Given the description of an element on the screen output the (x, y) to click on. 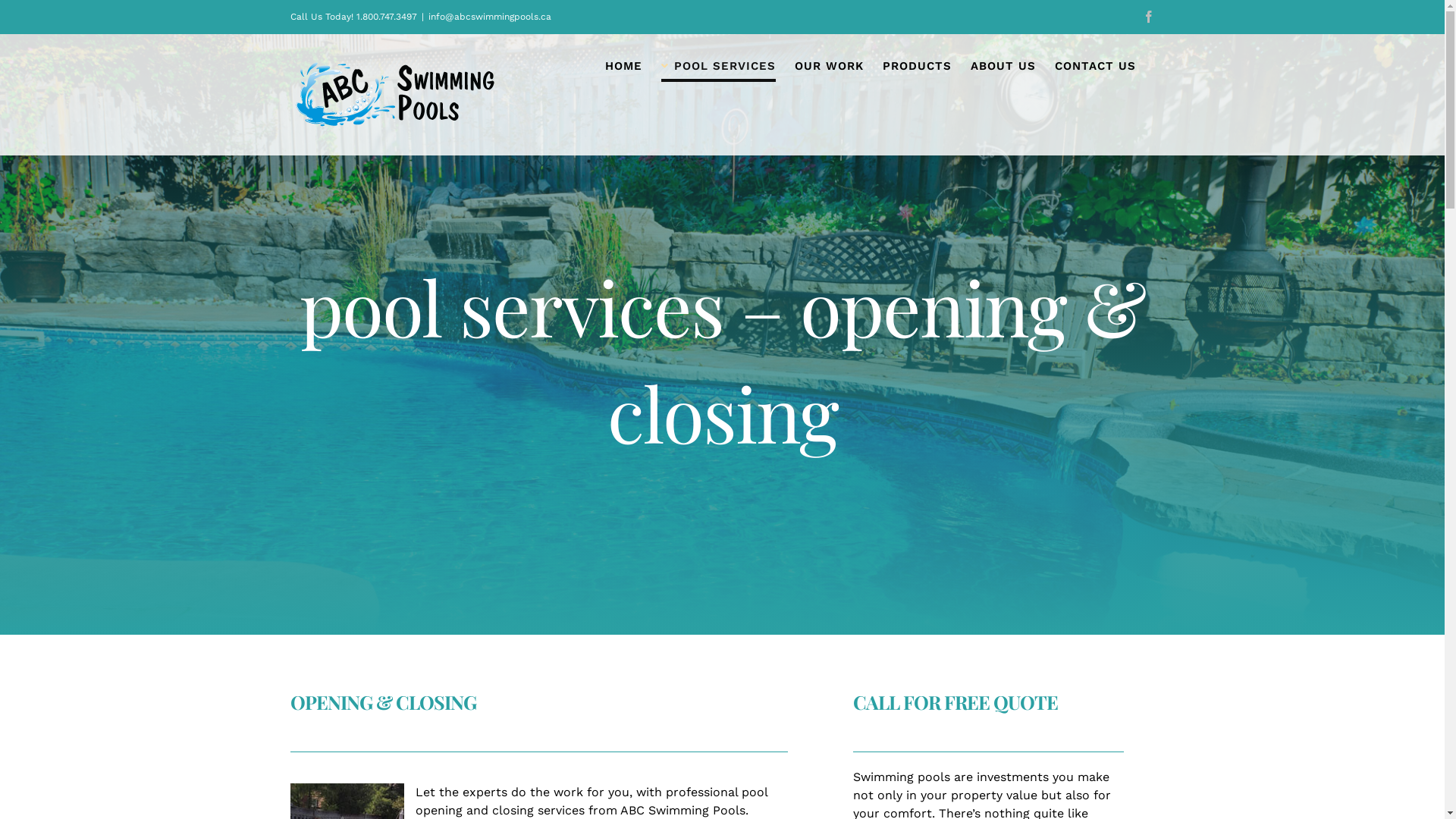
OUR WORK Element type: text (828, 65)
HOME Element type: text (623, 65)
CONTACT US Element type: text (1094, 65)
Facebook Element type: text (1148, 16)
PRODUCTS Element type: text (916, 65)
POOL SERVICES Element type: text (718, 65)
ABOUT US Element type: text (1002, 65)
info@abcswimmingpools.ca Element type: text (488, 16)
